Given the description of an element on the screen output the (x, y) to click on. 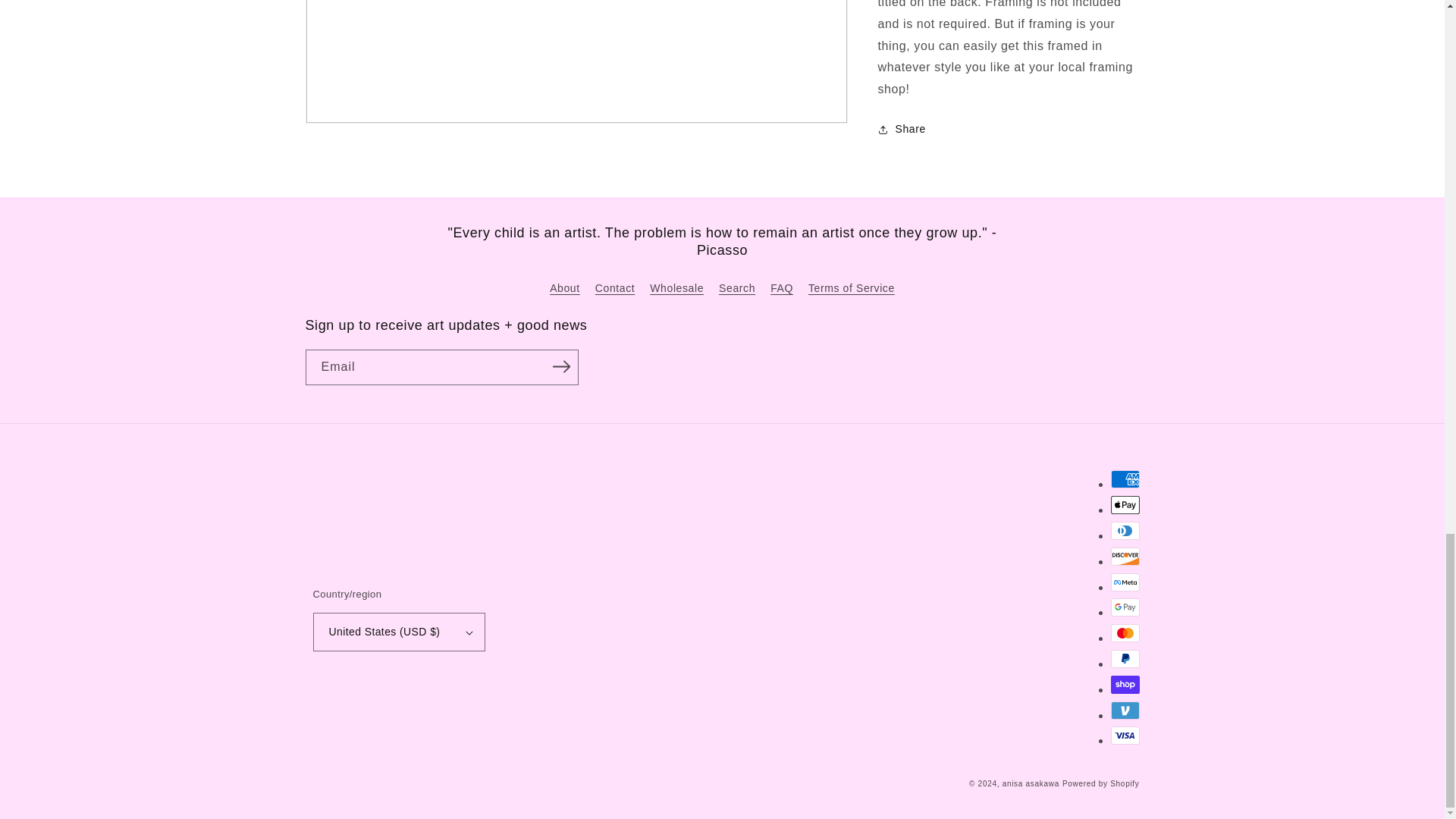
Diners Club (1123, 530)
Google Pay (1123, 607)
Shop Pay (1123, 684)
Visa (1123, 735)
PayPal (1123, 659)
Venmo (1123, 710)
Mastercard (1123, 633)
Meta Pay (1123, 582)
American Express (1123, 479)
Discover (1123, 556)
Apple Pay (1123, 505)
